Given the description of an element on the screen output the (x, y) to click on. 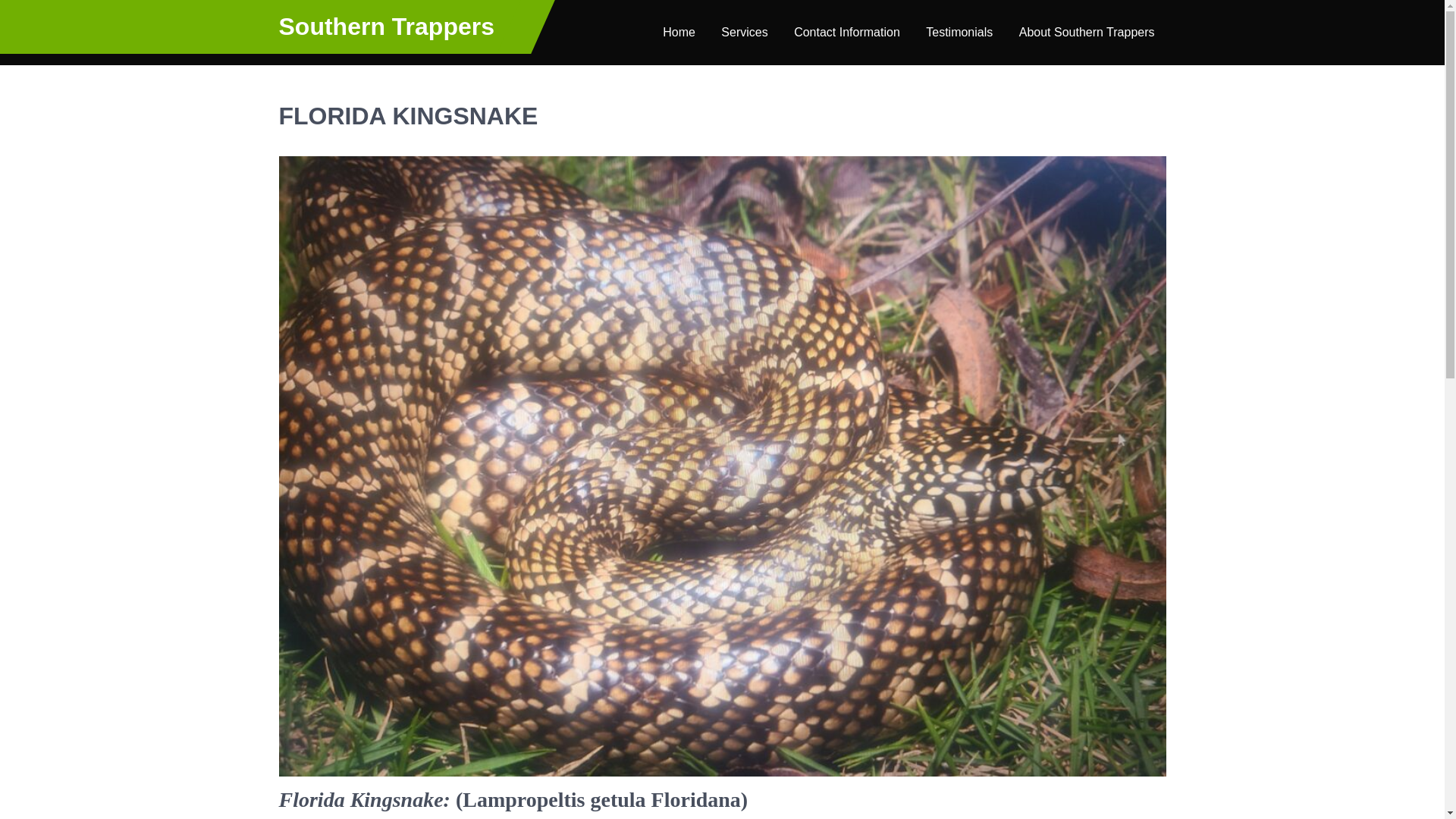
Southern Trappers (387, 26)
Services (744, 32)
